Given the description of an element on the screen output the (x, y) to click on. 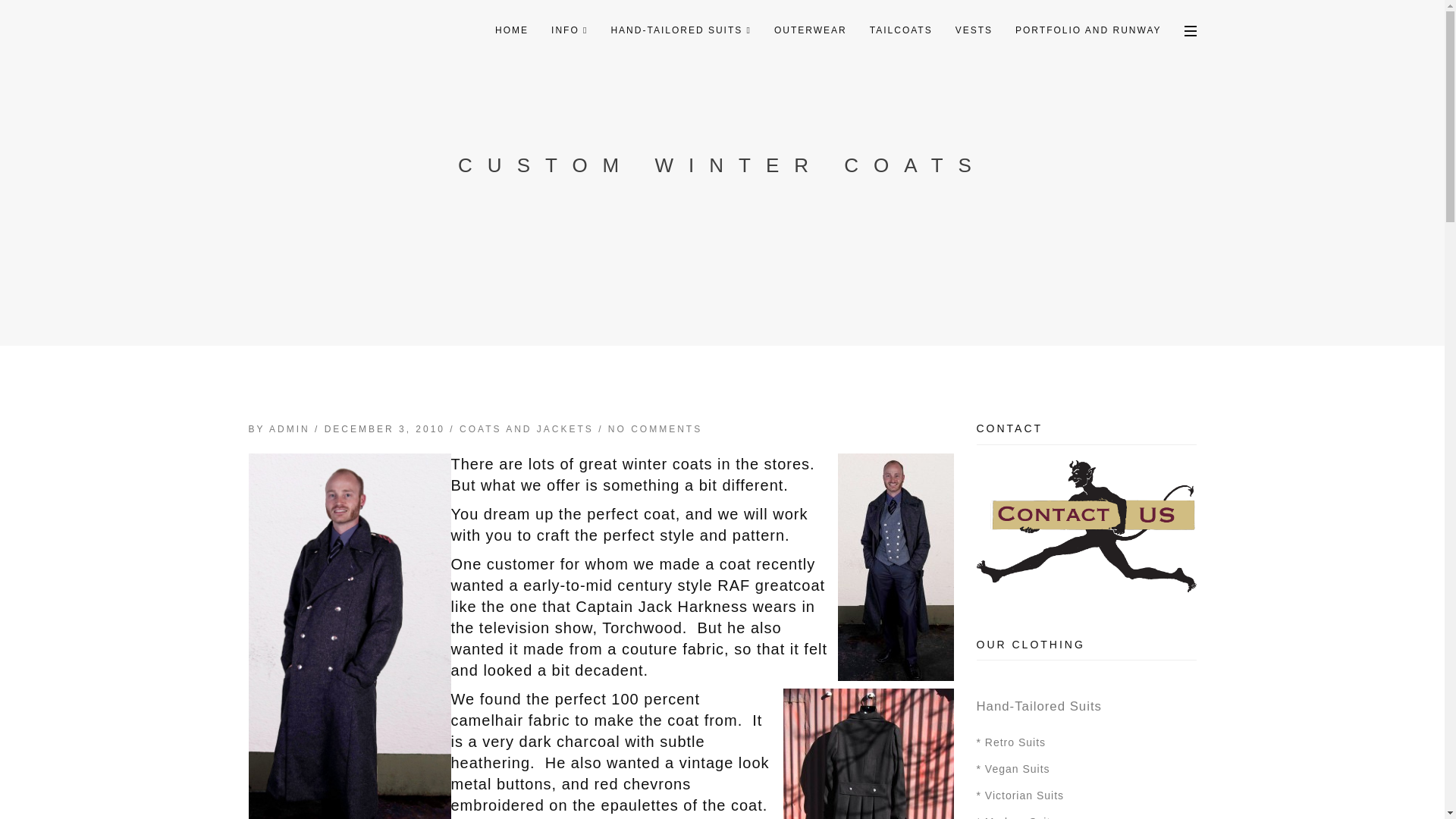
ADMIN (289, 429)
VESTS (973, 30)
OUTERWEAR (810, 30)
INFO (569, 30)
PORTFOLIO AND RUNWAY (1088, 30)
HOME (511, 30)
TAILCOATS (901, 30)
HAND-TAILORED SUITS (680, 30)
